Given the description of an element on the screen output the (x, y) to click on. 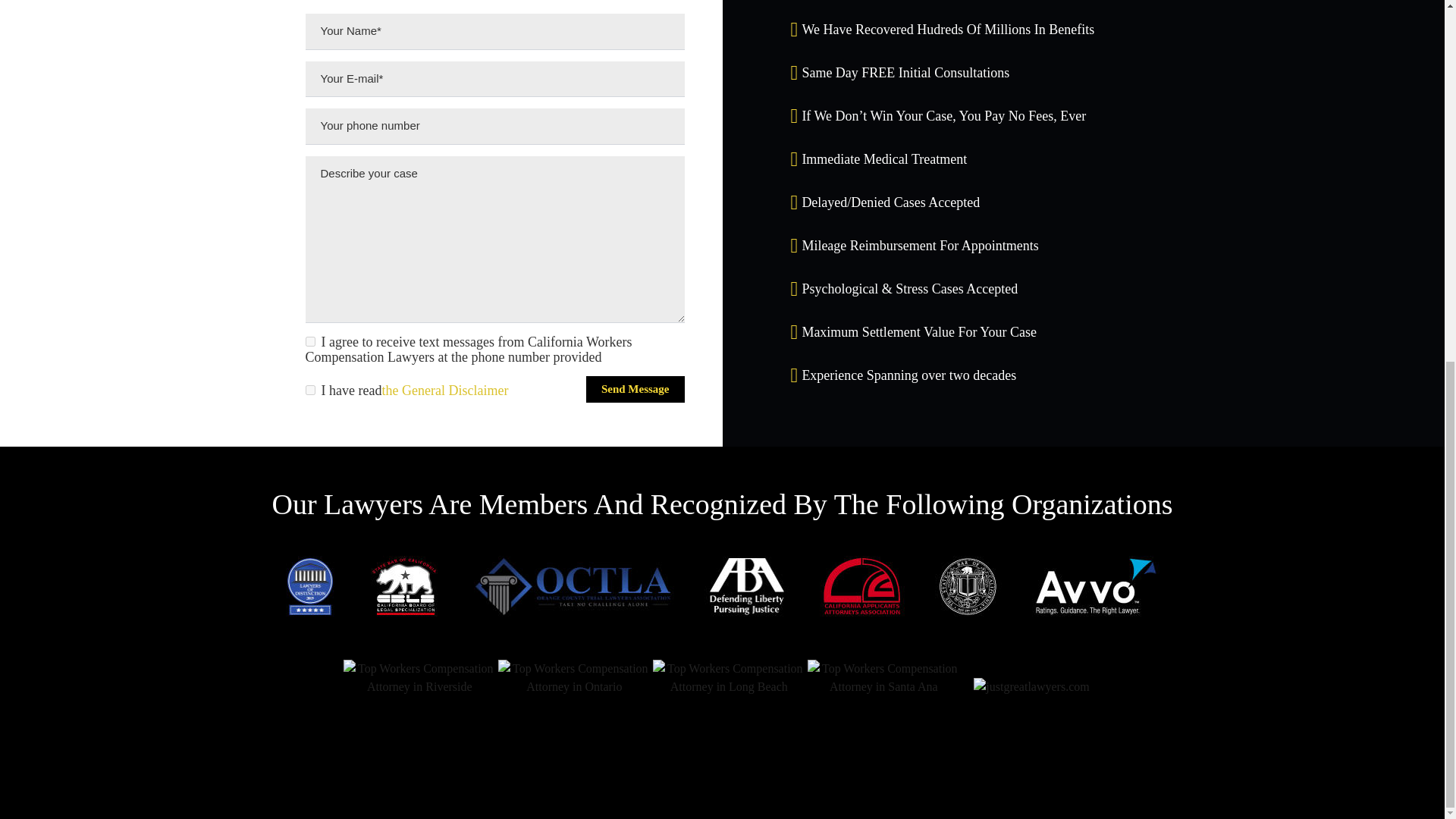
I agree (309, 341)
I have read (309, 389)
Send Message (635, 388)
General Disclaimer (444, 389)
